Given the description of an element on the screen output the (x, y) to click on. 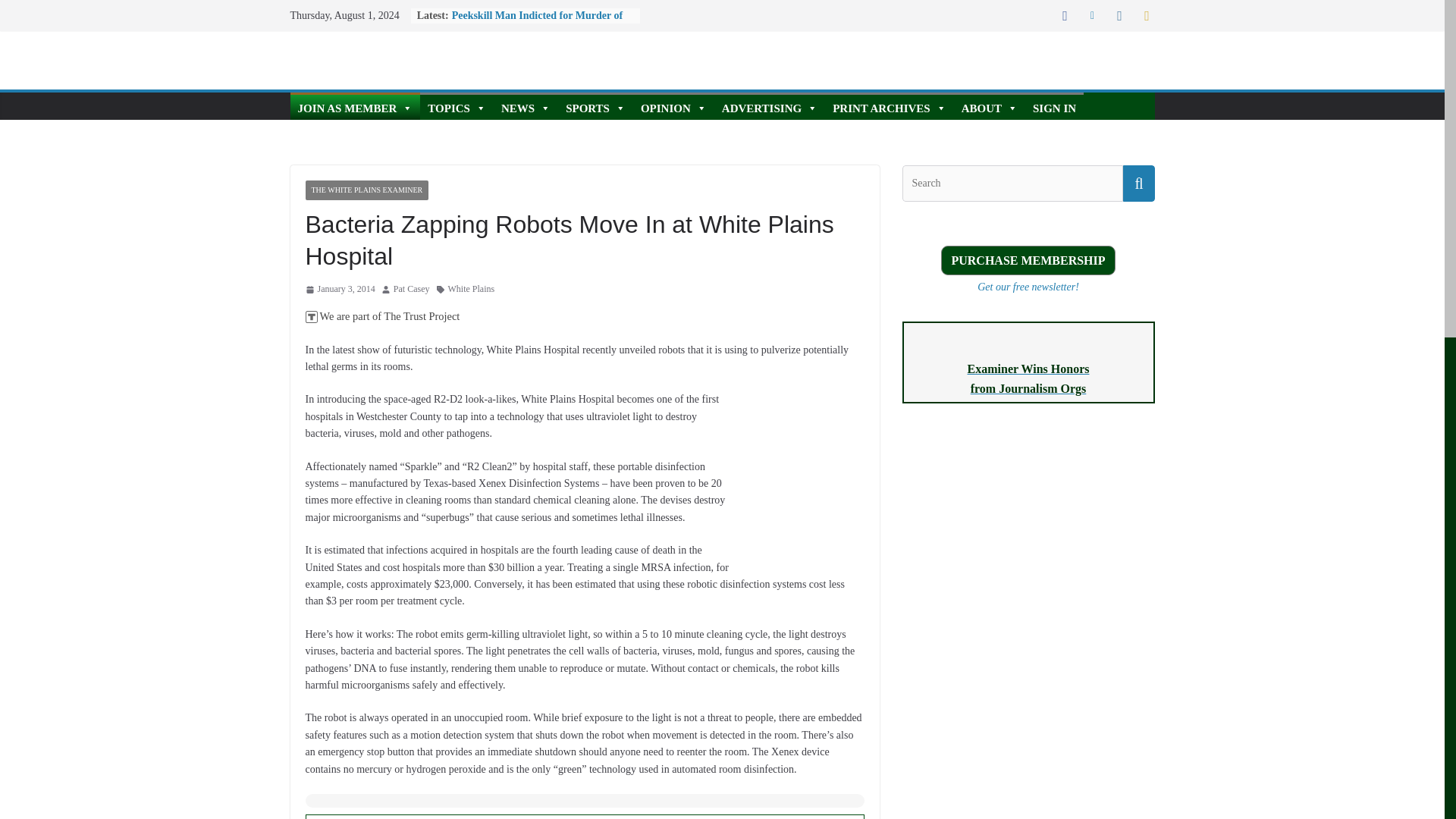
Peekskill Man Indicted for Murder of County Social Worker (537, 22)
NEWS (525, 105)
Pat Casey (411, 289)
JOIN AS MEMBER (354, 105)
8:45 am (339, 289)
TOPICS (456, 105)
Peekskill Man Indicted for Murder of County Social Worker (537, 22)
